Given the description of an element on the screen output the (x, y) to click on. 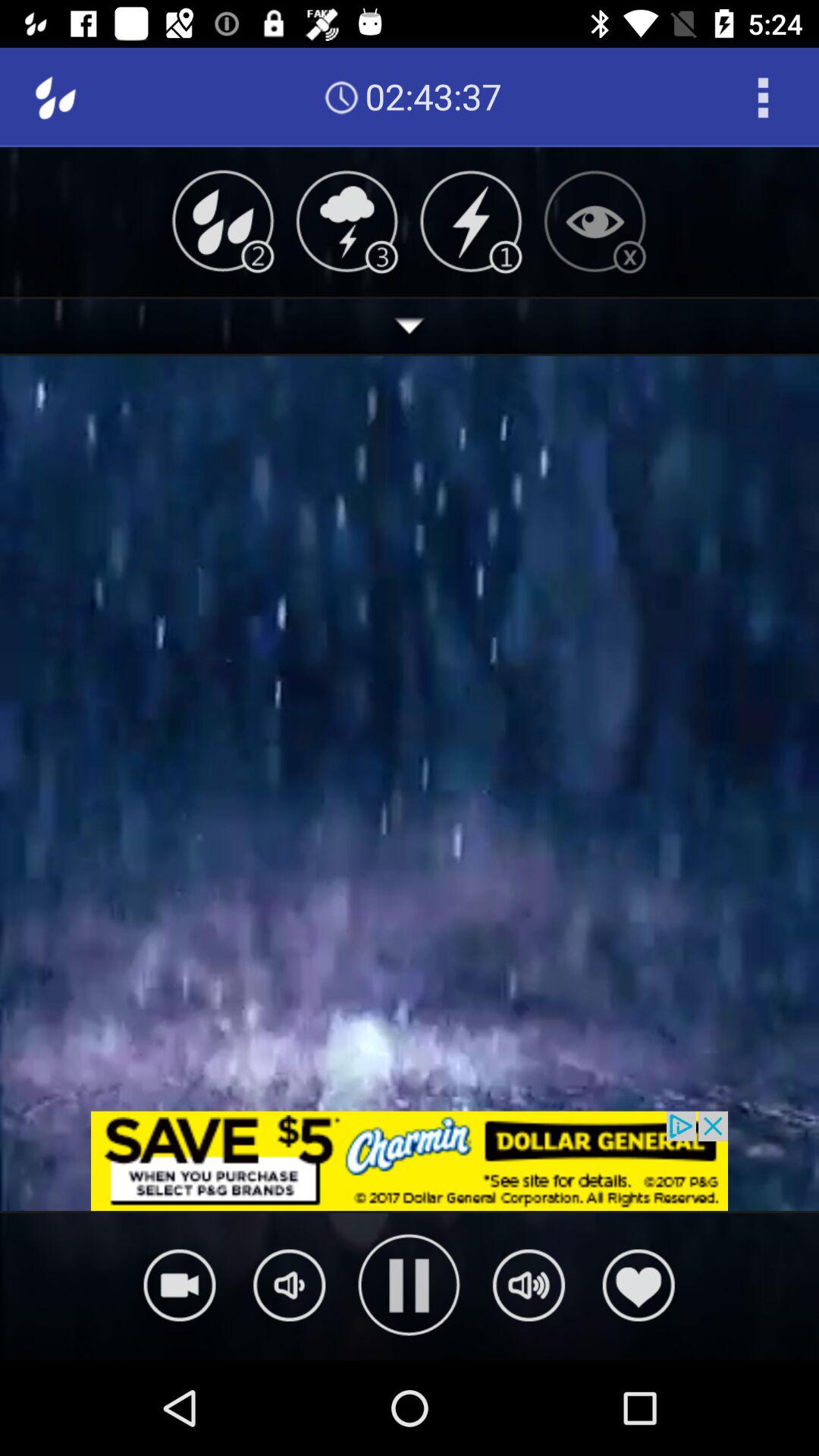
click the item to the right of 02:43:36 item (763, 97)
